Given the description of an element on the screen output the (x, y) to click on. 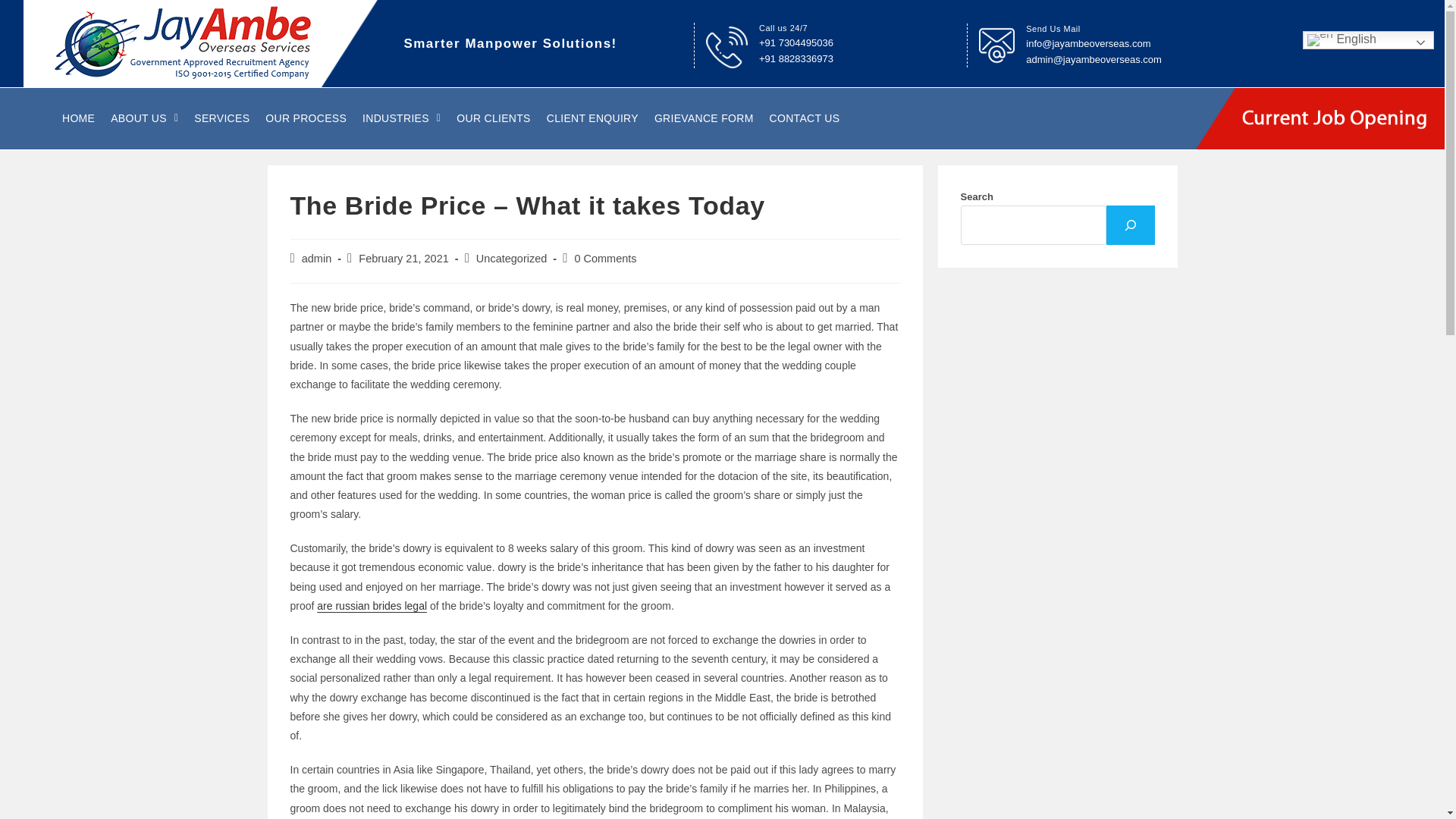
ABOUT US (143, 117)
CLIENT ENQUIRY (592, 117)
GRIEVANCE FORM (703, 117)
CONTACT US (804, 117)
SERVICES (221, 117)
OUR PROCESS (306, 117)
OUR CLIENTS (493, 117)
HOME (78, 117)
INDUSTRIES (400, 117)
English (1368, 39)
